Given the description of an element on the screen output the (x, y) to click on. 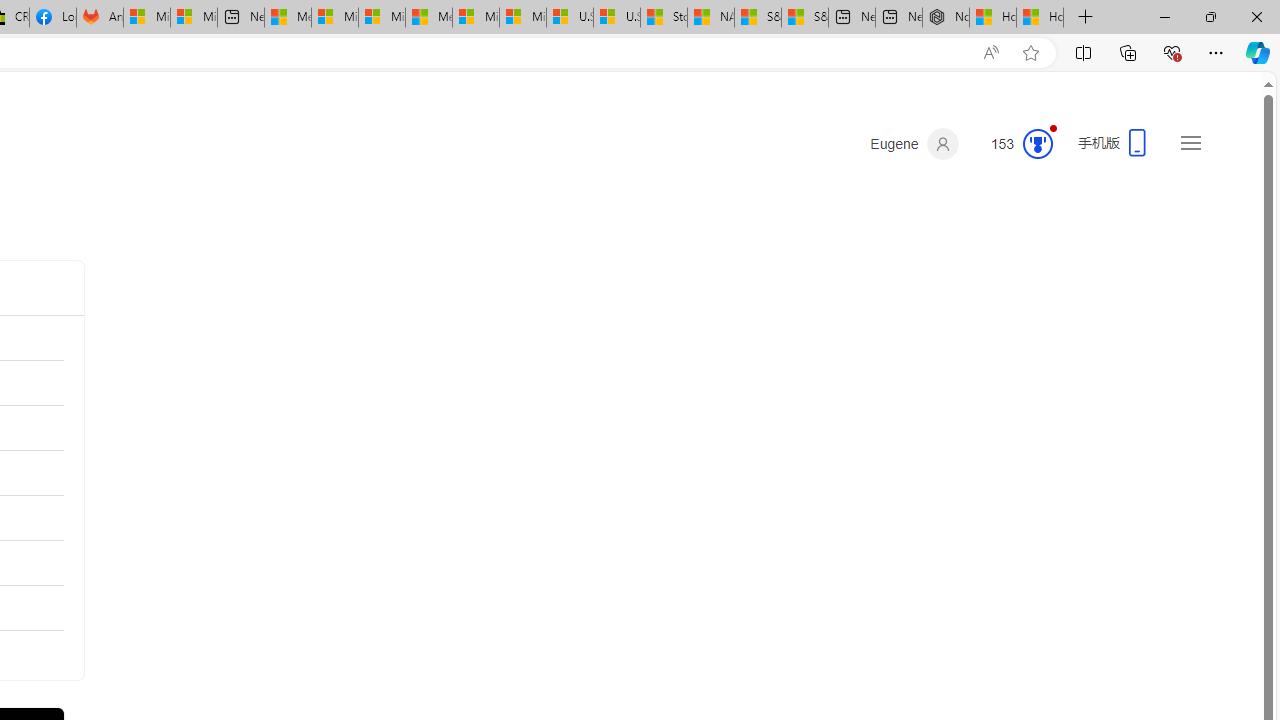
Microsoft account | Privacy (335, 17)
Microsoft account | Home (381, 17)
Log into Facebook (52, 17)
Eugene (914, 143)
Class: medal-circled (1037, 143)
Settings and quick links (1190, 142)
